Given the description of an element on the screen output the (x, y) to click on. 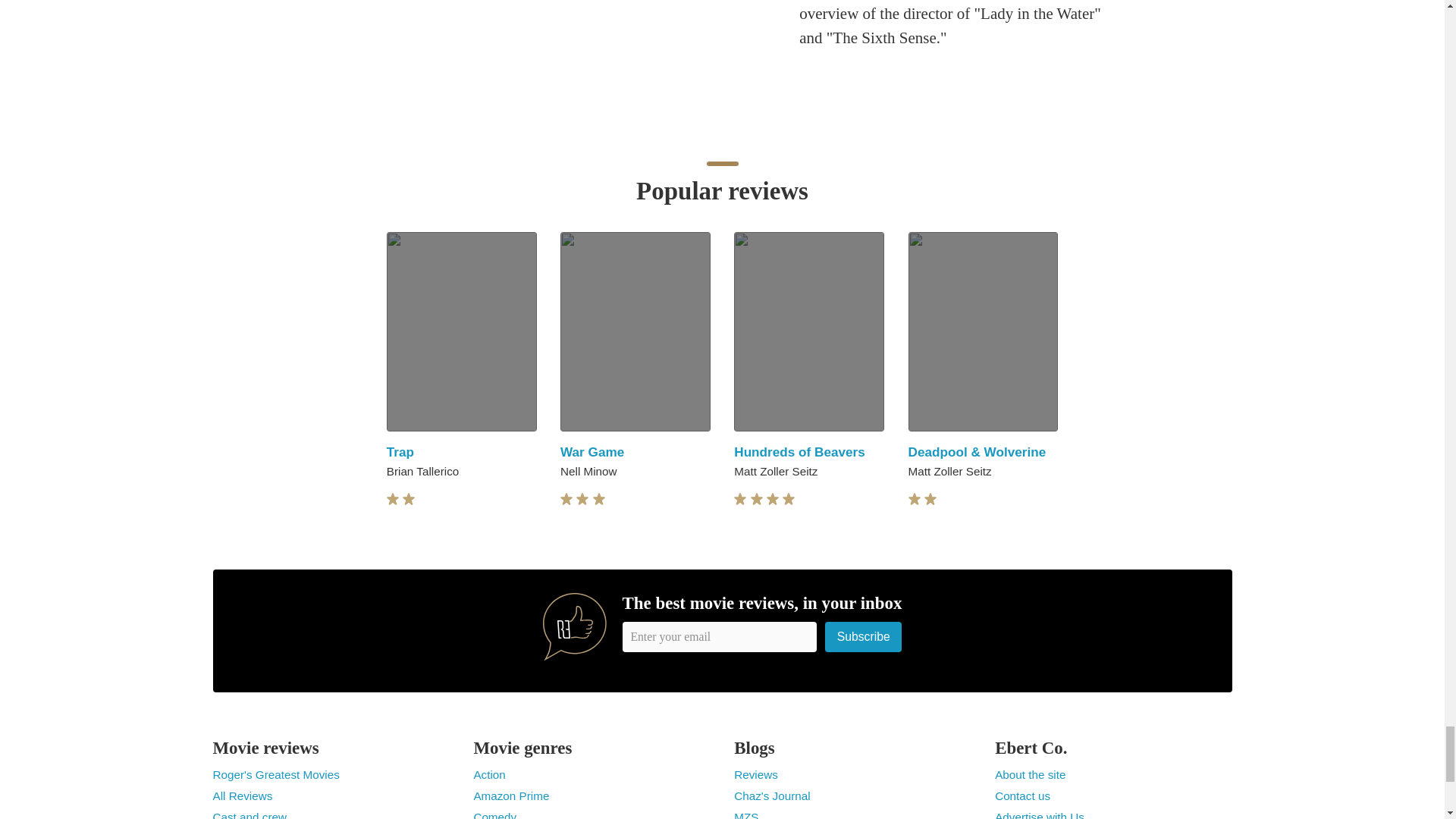
Subscribe (863, 636)
